Given the description of an element on the screen output the (x, y) to click on. 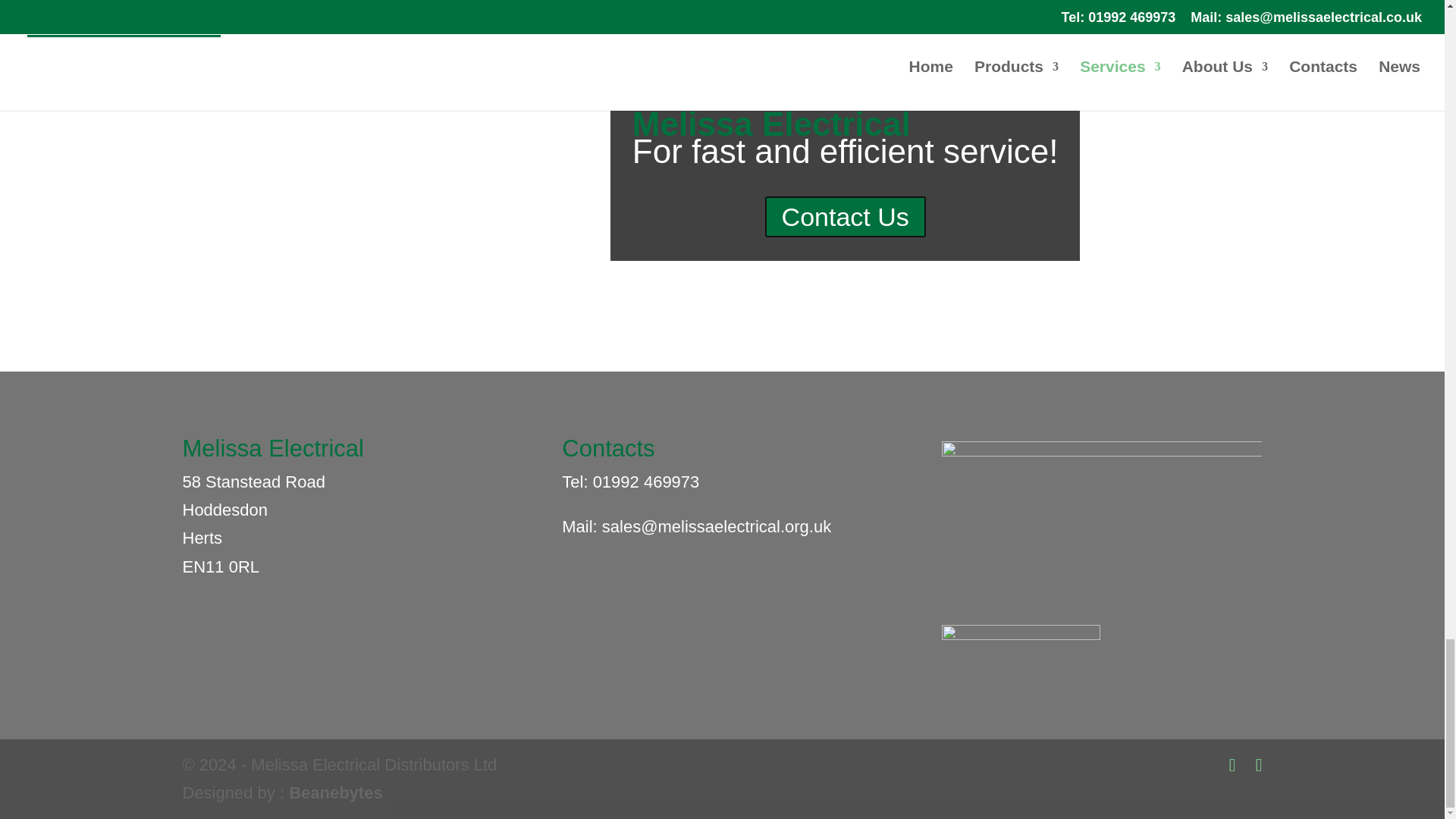
Contact Us (845, 216)
01992 469973 (646, 481)
Beanebytes (335, 792)
